Given the description of an element on the screen output the (x, y) to click on. 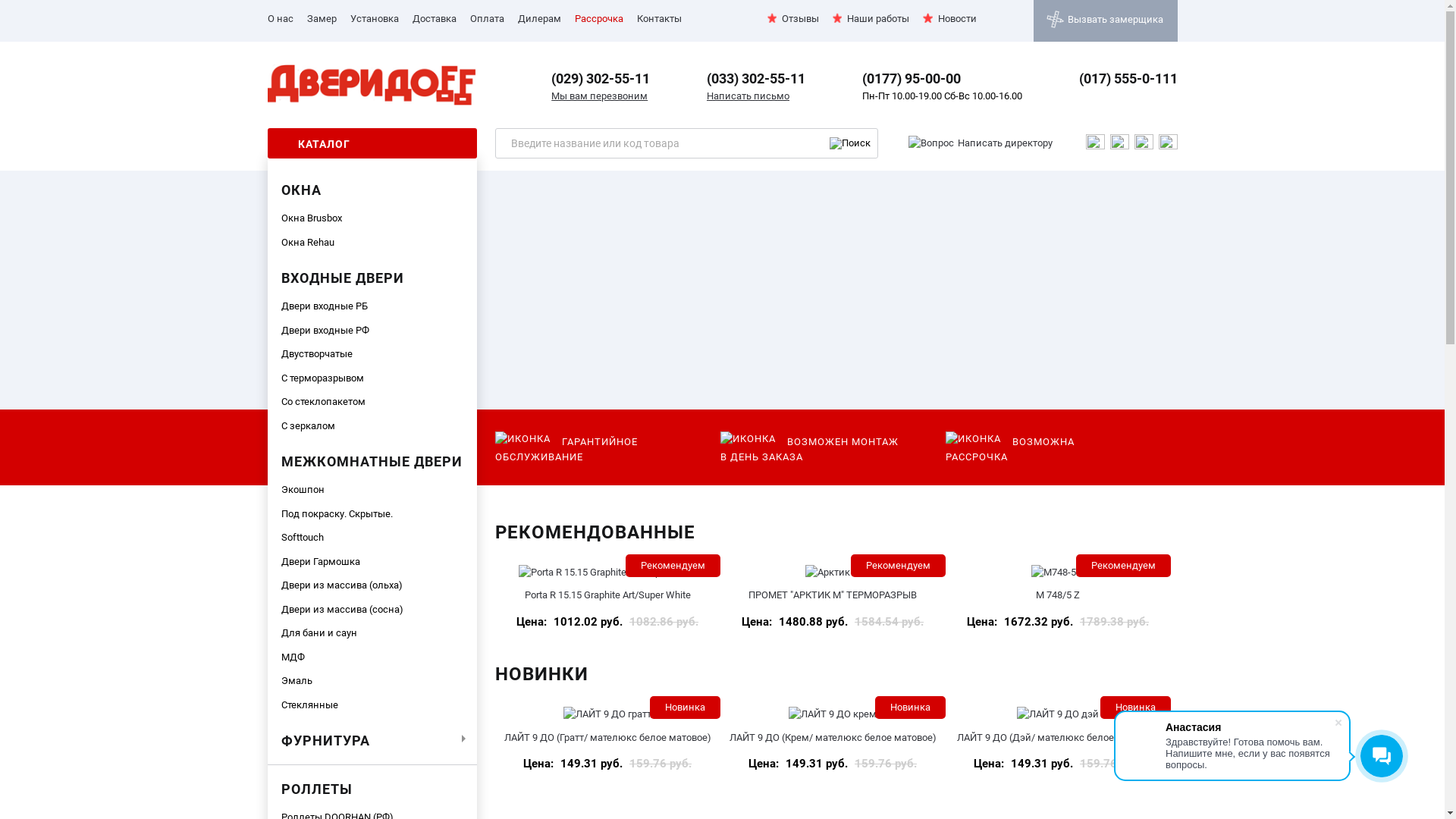
Softtouch Element type: text (371, 537)
Porta R 15.15 Graphite Art/Super White Element type: hover (607, 571)
(033) 302-55-11 Element type: text (755, 78)
(0177) 95-00-00 Element type: text (911, 78)
(017) 555-0-111 Element type: text (1127, 78)
(029) 302-55-11 Element type: text (600, 78)
Porta R 15.15 Graphite Art/Super White Element type: text (607, 594)
